Given the description of an element on the screen output the (x, y) to click on. 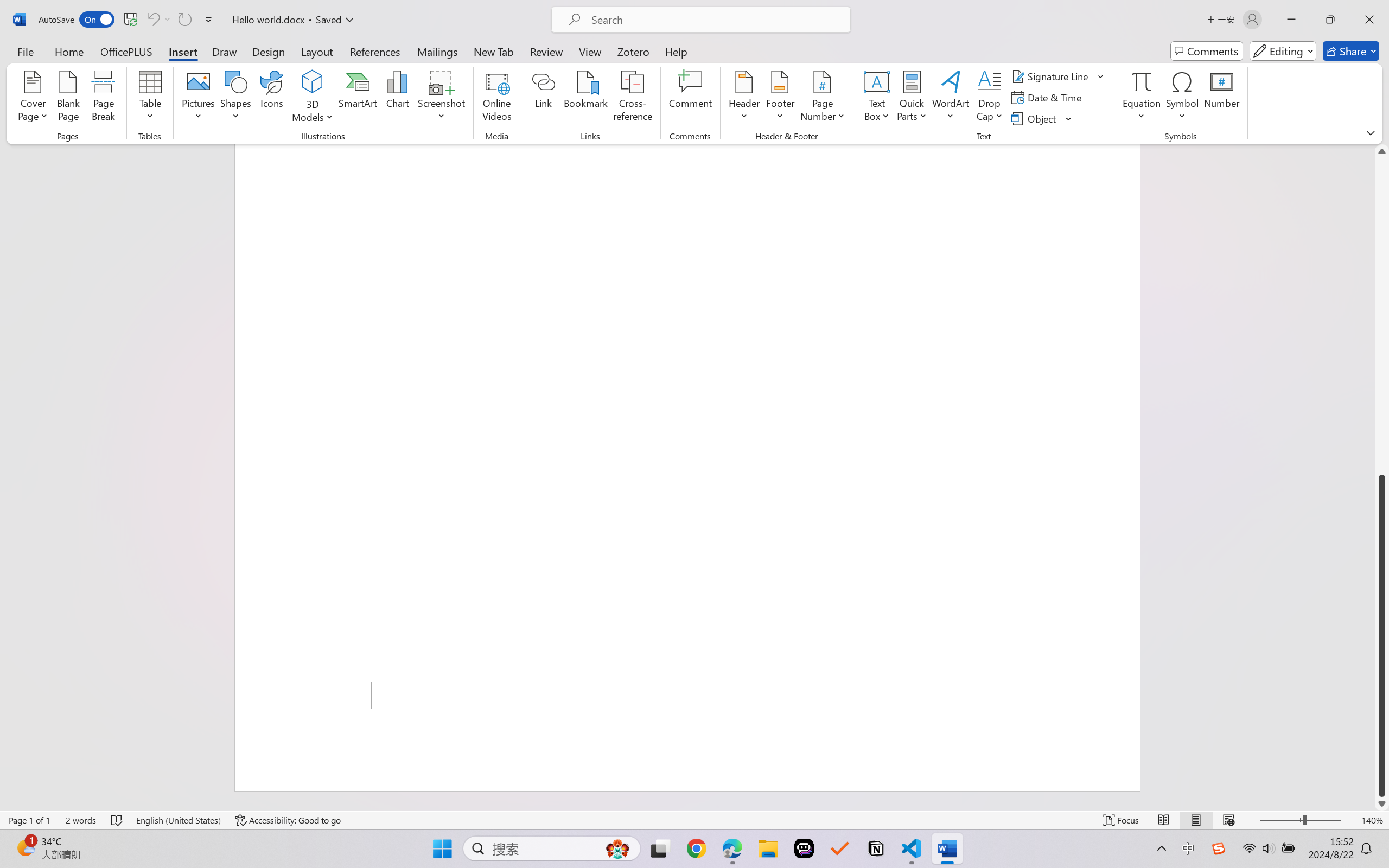
AutomationID: DynamicSearchBoxGleamImage (617, 848)
Zoom 140% (1372, 819)
Can't Undo (152, 19)
Share (1350, 51)
Home (69, 51)
File Tab (24, 51)
Comment (689, 97)
Mailings (437, 51)
Accessibility Checker Accessibility: Good to go (288, 819)
Class: MsoCommandBar (694, 819)
Header (743, 97)
Class: Image (1218, 847)
Online Videos... (496, 97)
AutomationID: BadgeAnchorLargeTicker (24, 847)
